Given the description of an element on the screen output the (x, y) to click on. 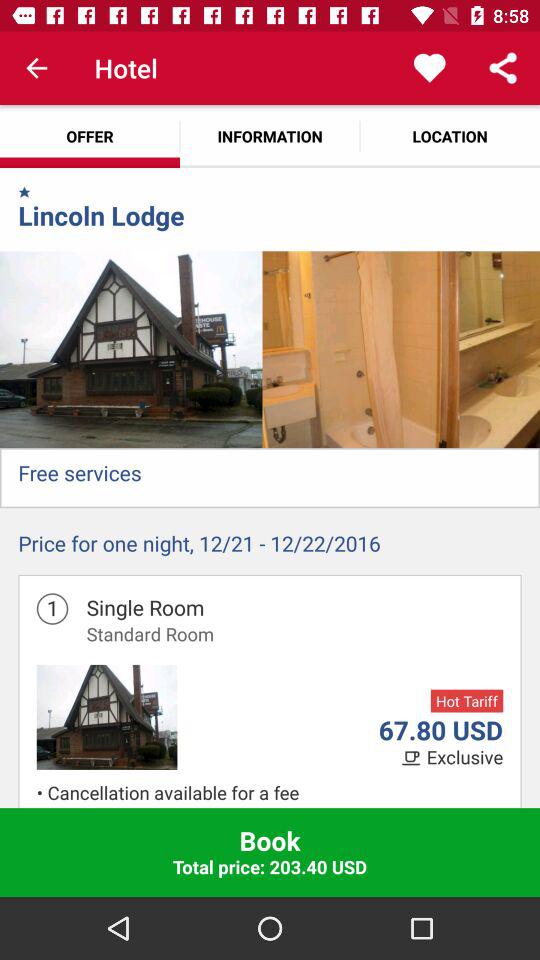
select the location (450, 136)
